Given the description of an element on the screen output the (x, y) to click on. 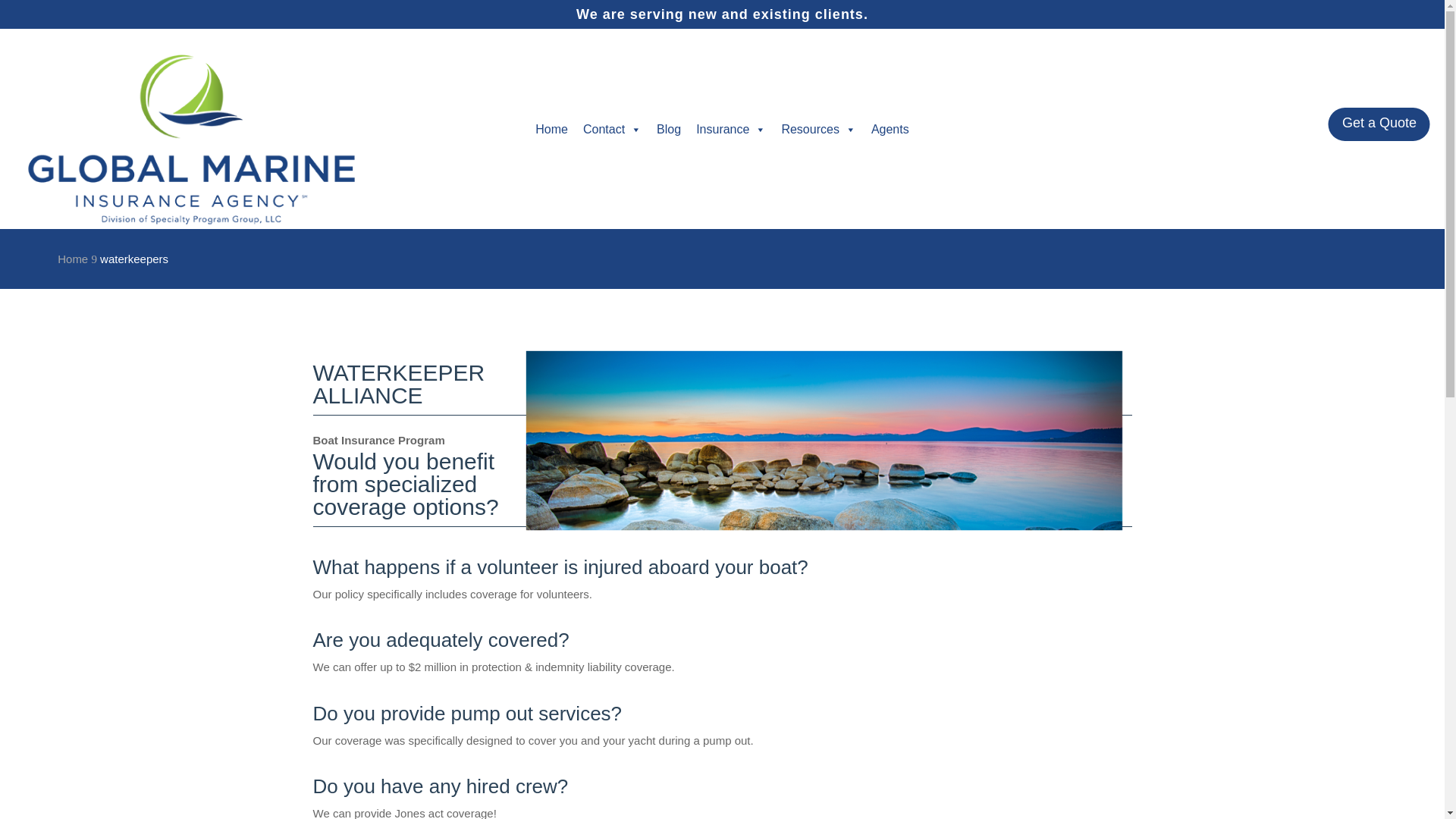
Contact (612, 129)
Agents (890, 129)
Home (72, 258)
Resources (818, 129)
Blog (668, 129)
newlogo (191, 139)
Insurance (730, 129)
Get a Quote (1378, 123)
Home (551, 129)
